Given the description of an element on the screen output the (x, y) to click on. 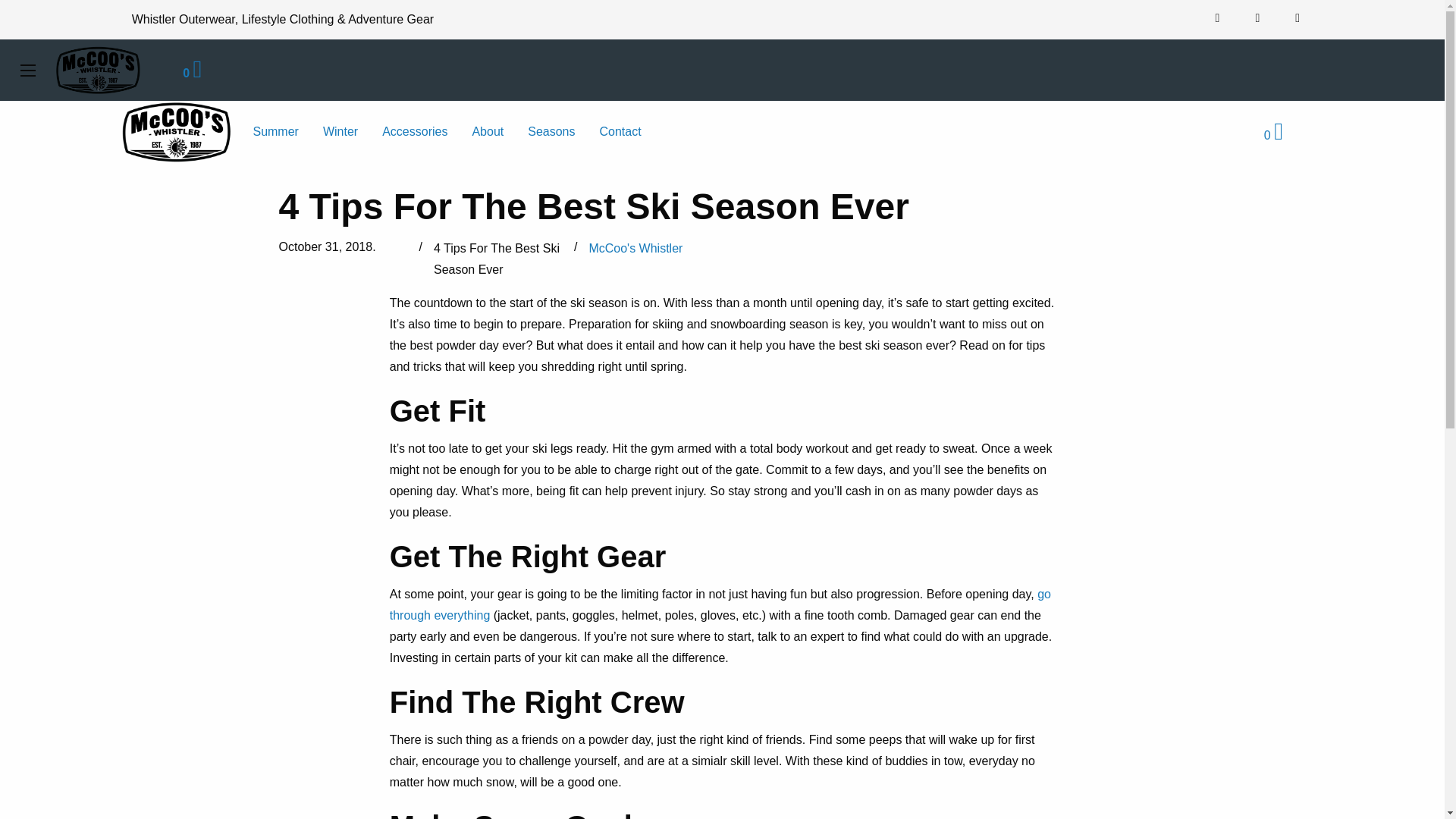
View your shopping cart (192, 72)
View your shopping cart (1272, 134)
0 (192, 72)
